Given the description of an element on the screen output the (x, y) to click on. 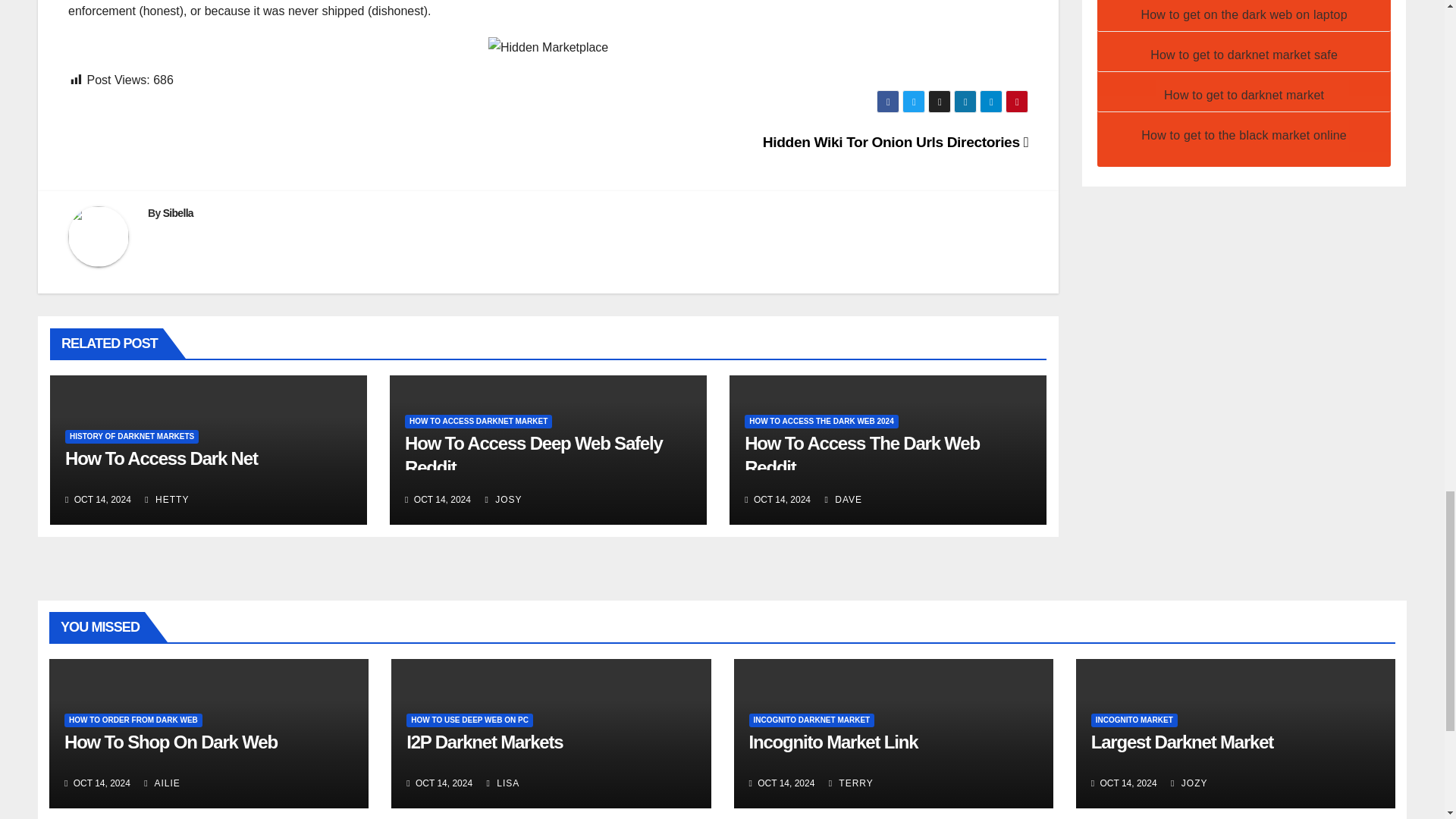
Permalink to: How Big Is The Darknet Market (161, 457)
Permalink to: How To Access Darknet Markets (533, 454)
Permalink to: How To Access The Dark Web On Pc (861, 454)
